Given the description of an element on the screen output the (x, y) to click on. 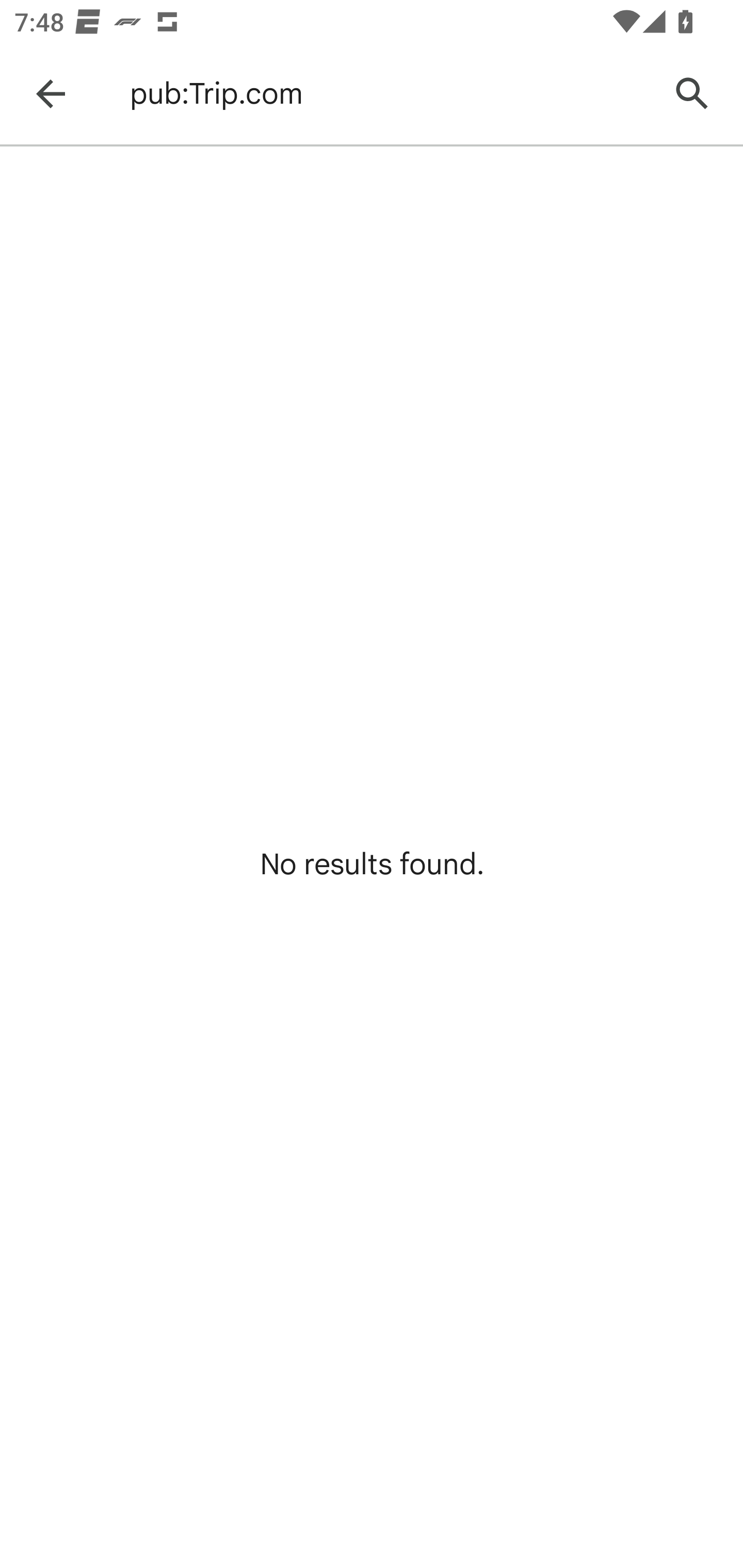
pub:Trip.com (389, 93)
Navigate up (50, 93)
Search Google Play (692, 93)
